Given the description of an element on the screen output the (x, y) to click on. 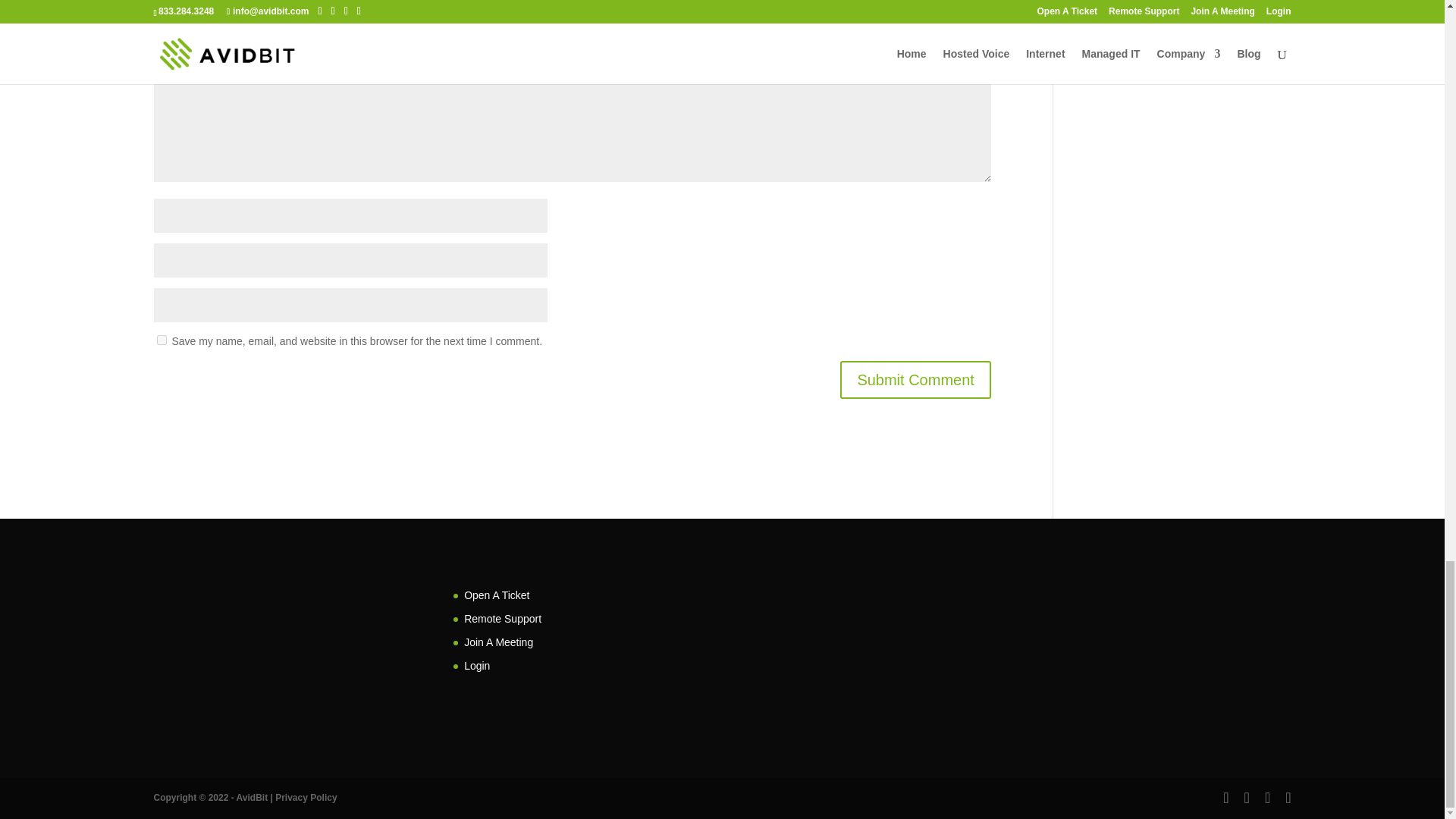
Submit Comment (915, 379)
yes (160, 339)
